Given the description of an element on the screen output the (x, y) to click on. 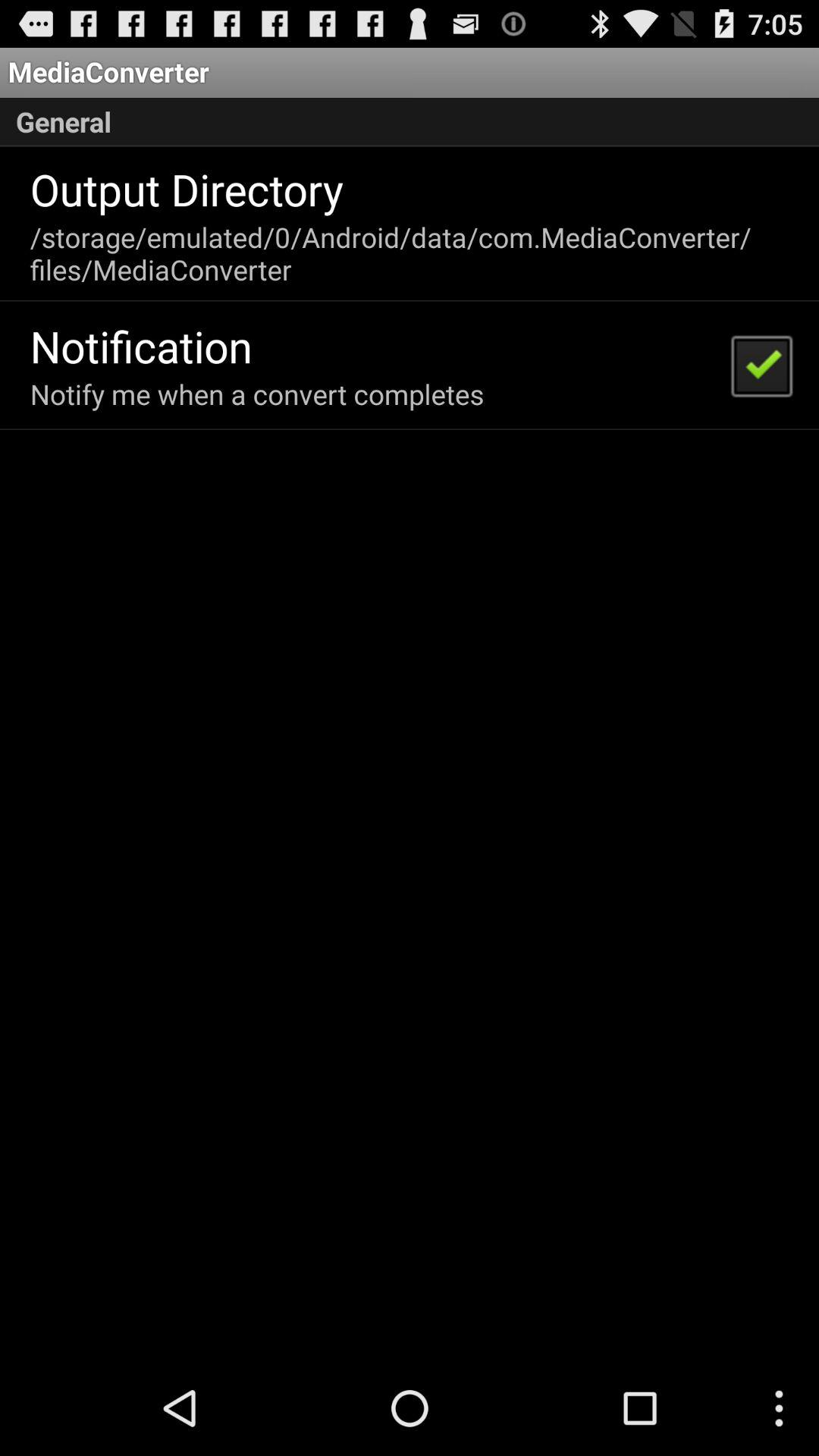
choose general app (409, 121)
